Given the description of an element on the screen output the (x, y) to click on. 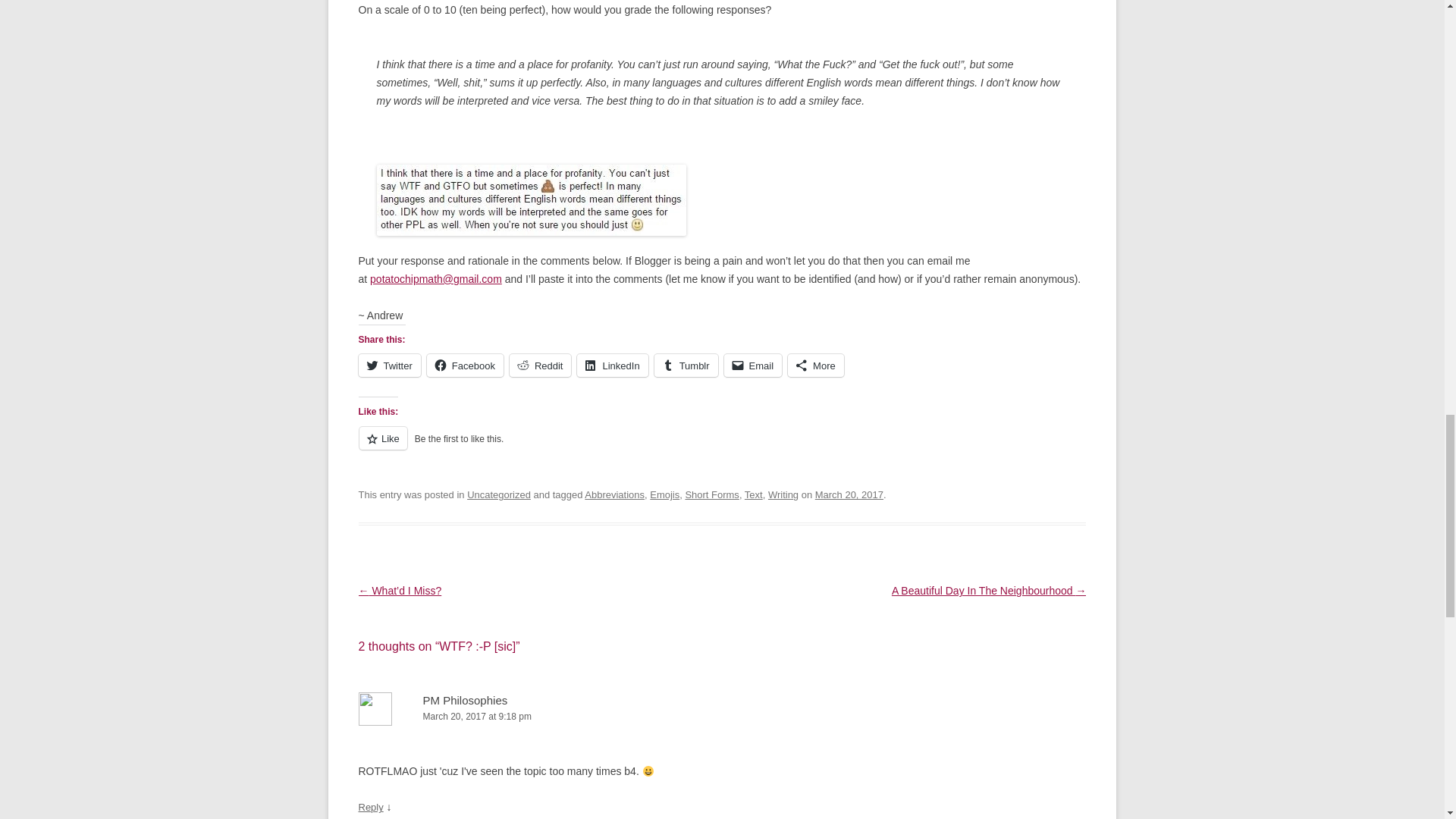
Reddit (540, 364)
Click to share on LinkedIn (611, 364)
Like or Reblog (722, 446)
More (815, 364)
Uncategorized (499, 494)
Click to share on Tumblr (685, 364)
Facebook (464, 364)
Twitter (389, 364)
Click to share on Reddit (540, 364)
Email (753, 364)
Tumblr (685, 364)
Click to share on Twitter (389, 364)
6:30 am (849, 494)
Click to email a link to a friend (753, 364)
Short Forms (711, 494)
